Given the description of an element on the screen output the (x, y) to click on. 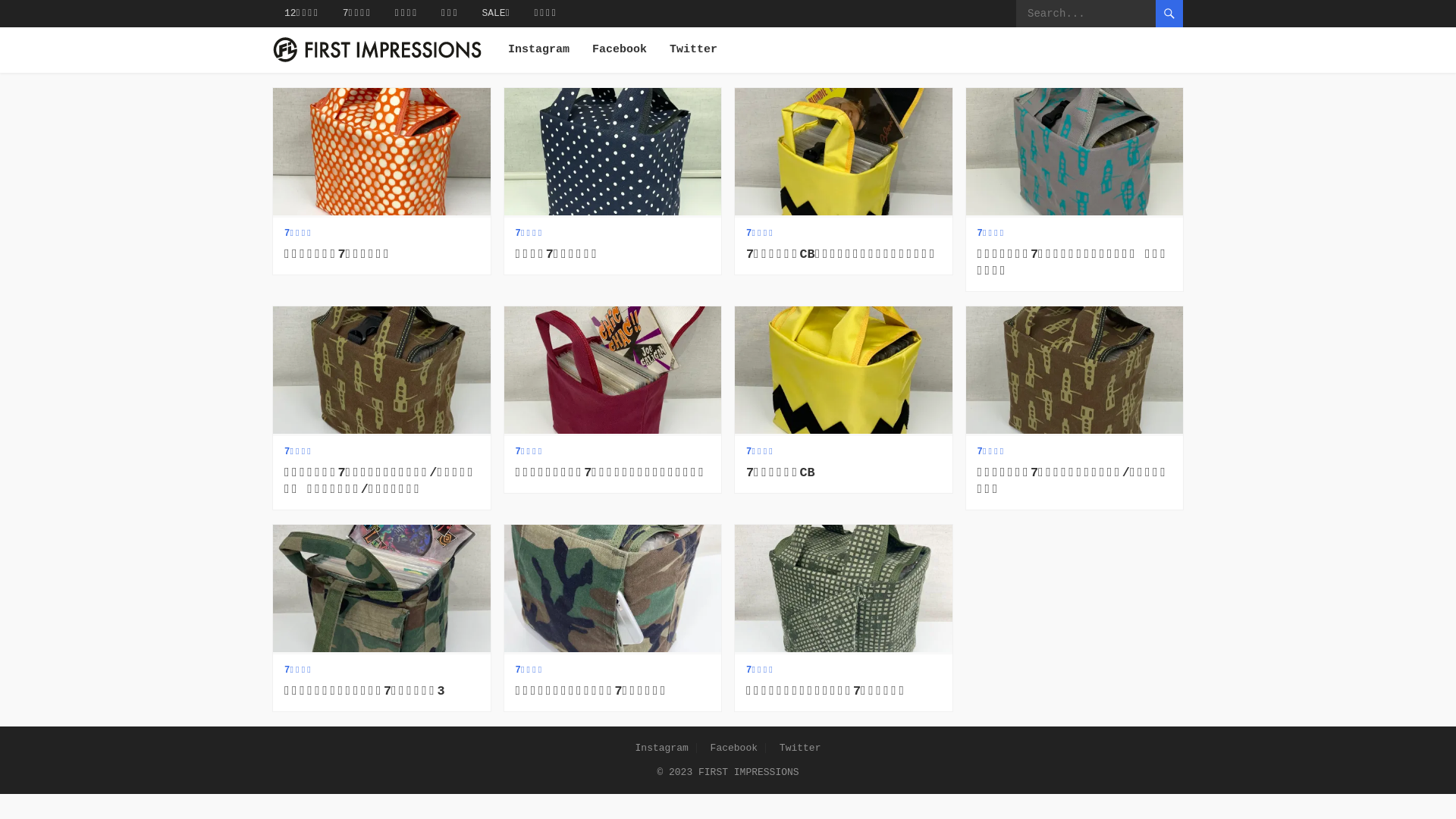
Instagram Element type: text (538, 49)
FIRST IMPRESSIONS Element type: text (748, 772)
Instagram Element type: text (661, 747)
Twitter Element type: text (800, 747)
Facebook Element type: text (619, 49)
Twitter Element type: text (693, 49)
Facebook Element type: text (733, 747)
